Given the description of an element on the screen output the (x, y) to click on. 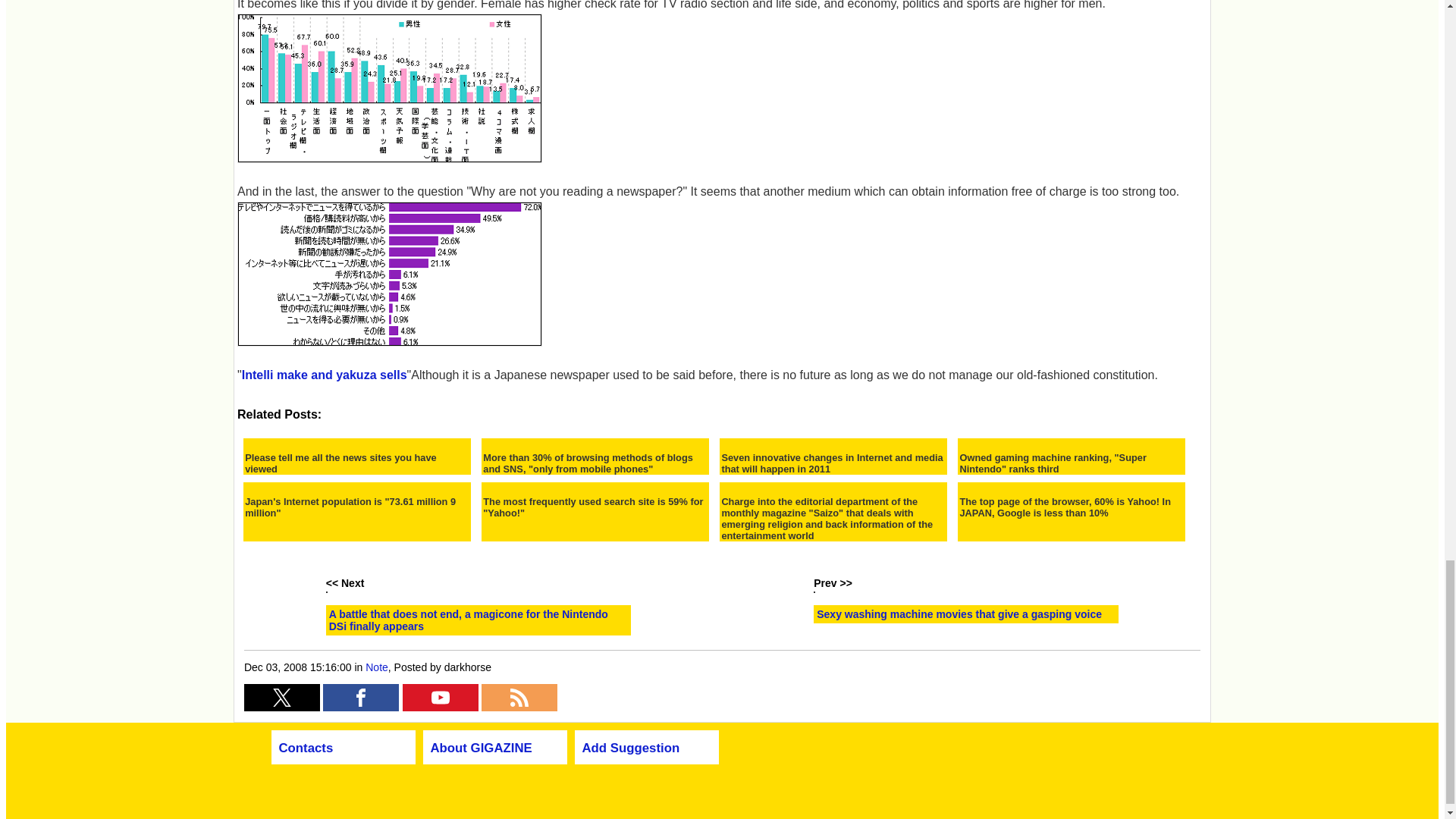
Japan's Internet population is "73.61 million 9 million" (356, 507)
Please tell me all the news sites you have viewed (356, 463)
Owned gaming machine ranking, "Super Nintendo" ranks third (1071, 463)
Intelli make and yakuza sells (324, 374)
Sexy washing machine movies that give a gasping voice (959, 613)
Note (376, 666)
Add Suggestion (630, 748)
